Given the description of an element on the screen output the (x, y) to click on. 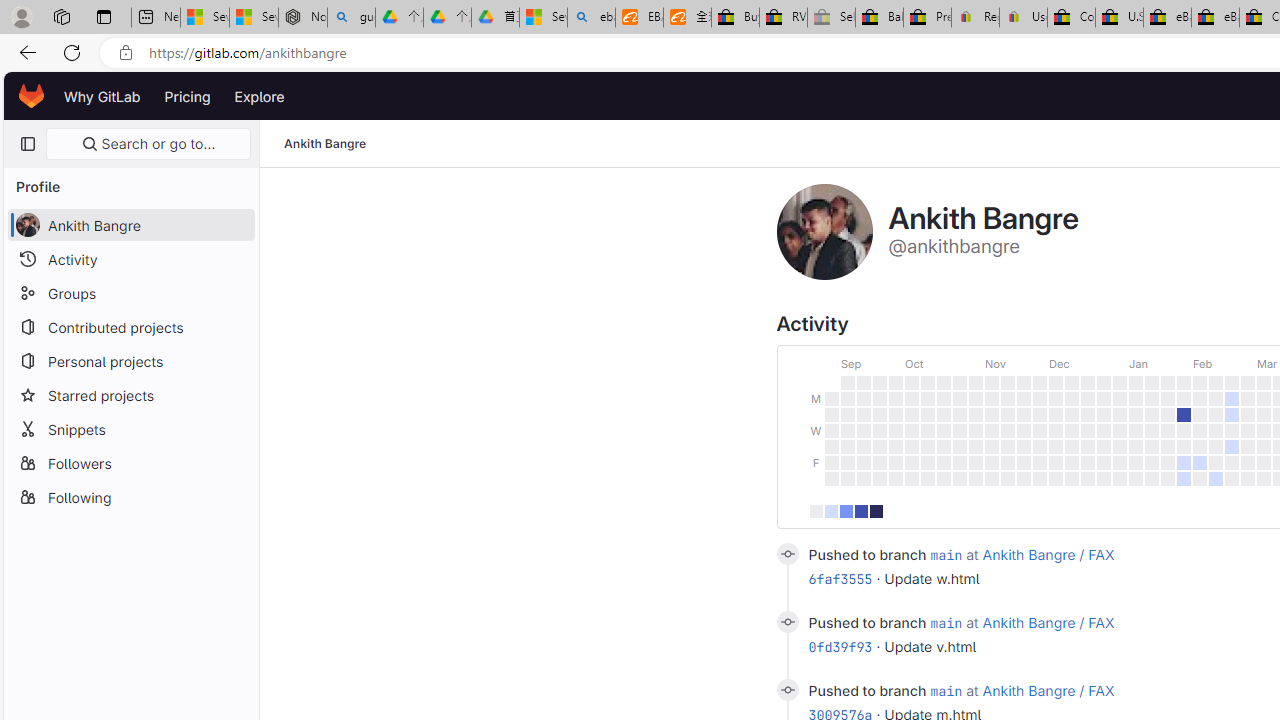
Contributed projects (130, 326)
Personal projects (130, 360)
Consumer Health Data Privacy Policy - eBay Inc. (1071, 17)
